Given the description of an element on the screen output the (x, y) to click on. 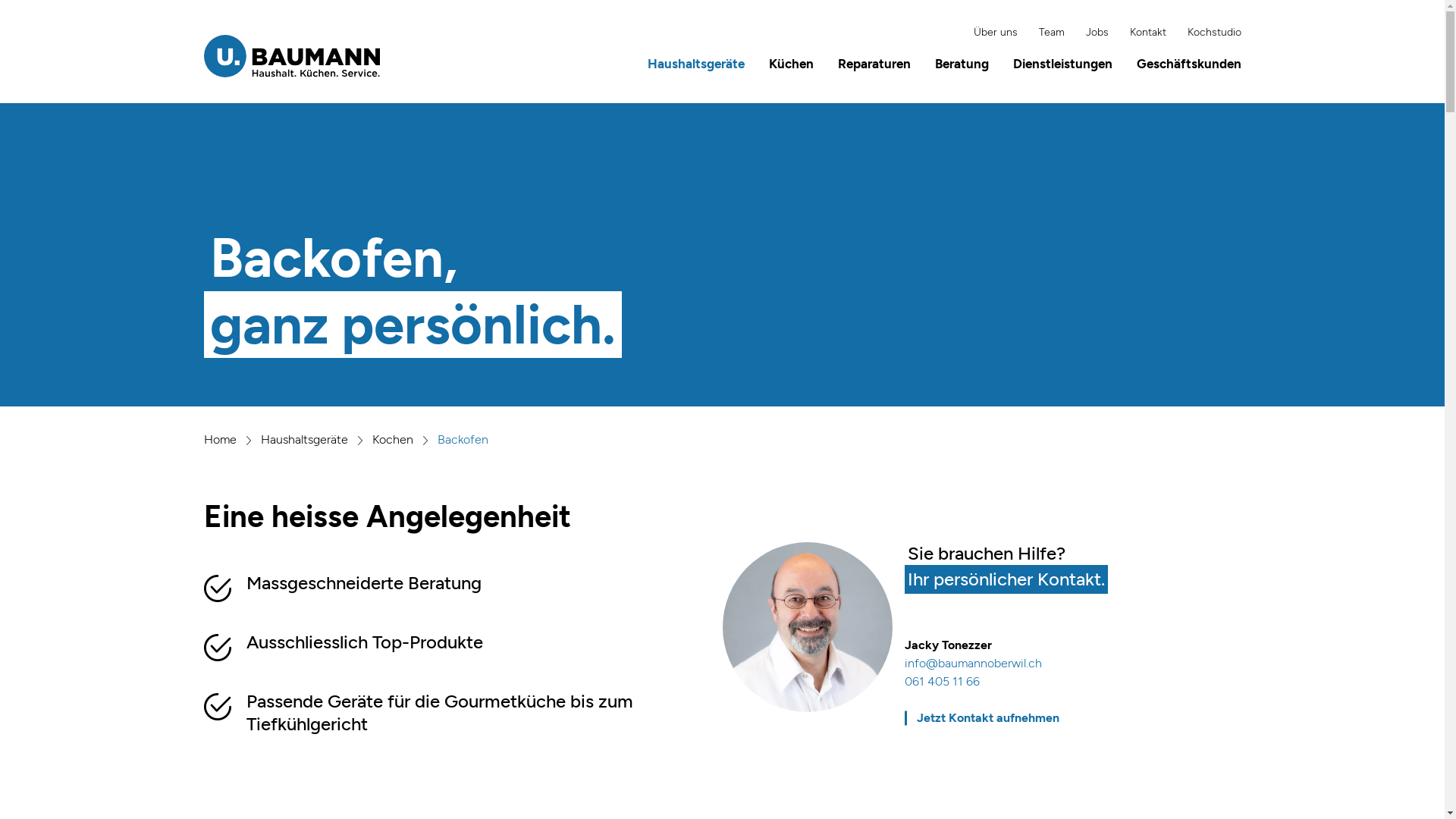
Kochstudio Element type: text (1209, 32)
061 405 11 66 Element type: text (941, 681)
Dienstleistungen Element type: text (1062, 63)
Jobs Element type: text (1092, 32)
Kontakt Element type: text (1143, 32)
Beratung Element type: text (961, 63)
info@baumannoberwil.ch Element type: text (972, 663)
Jetzt Kontakt aufnehmen Element type: text (987, 717)
Backofen Element type: text (461, 439)
Kochen Element type: text (391, 439)
Home Element type: text (219, 439)
Team Element type: text (1046, 32)
Reparaturen Element type: text (873, 63)
